Given the description of an element on the screen output the (x, y) to click on. 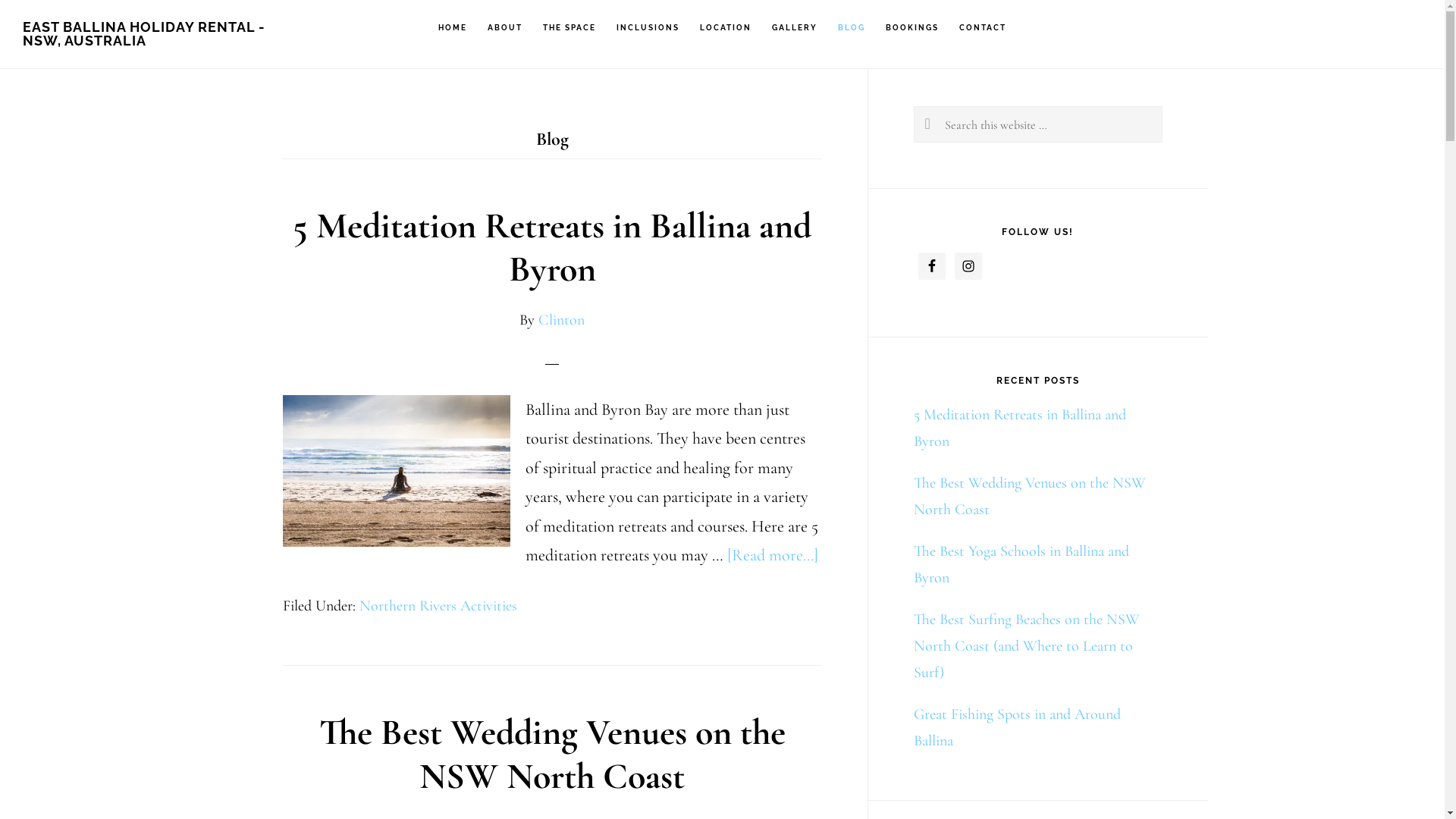
CONTACT Element type: text (982, 27)
Clinton Element type: text (561, 319)
EAST BALLINA HOLIDAY RENTAL - NSW, AUSTRALIA Element type: text (143, 33)
ABOUT Element type: text (504, 27)
THE SPACE Element type: text (569, 27)
BLOG Element type: text (851, 27)
INCLUSIONS Element type: text (647, 27)
Search Element type: text (1161, 105)
The Best Yoga Schools in Ballina and Byron Element type: text (1020, 564)
5 Meditation Retreats in Ballina and Byron Element type: text (551, 247)
The Best Wedding Venues on the NSW North Coast Element type: text (551, 754)
Northern Rivers Activities Element type: text (438, 605)
GALLERY Element type: text (794, 27)
LOCATION Element type: text (725, 27)
BOOKINGS Element type: text (912, 27)
Skip to content Element type: text (0, 0)
HOME Element type: text (452, 27)
5 Meditation Retreats in Ballina and Byron Element type: text (1019, 427)
Great Fishing Spots in and Around Ballina Element type: text (1016, 727)
The Best Wedding Venues on the NSW North Coast Element type: text (1029, 495)
